Given the description of an element on the screen output the (x, y) to click on. 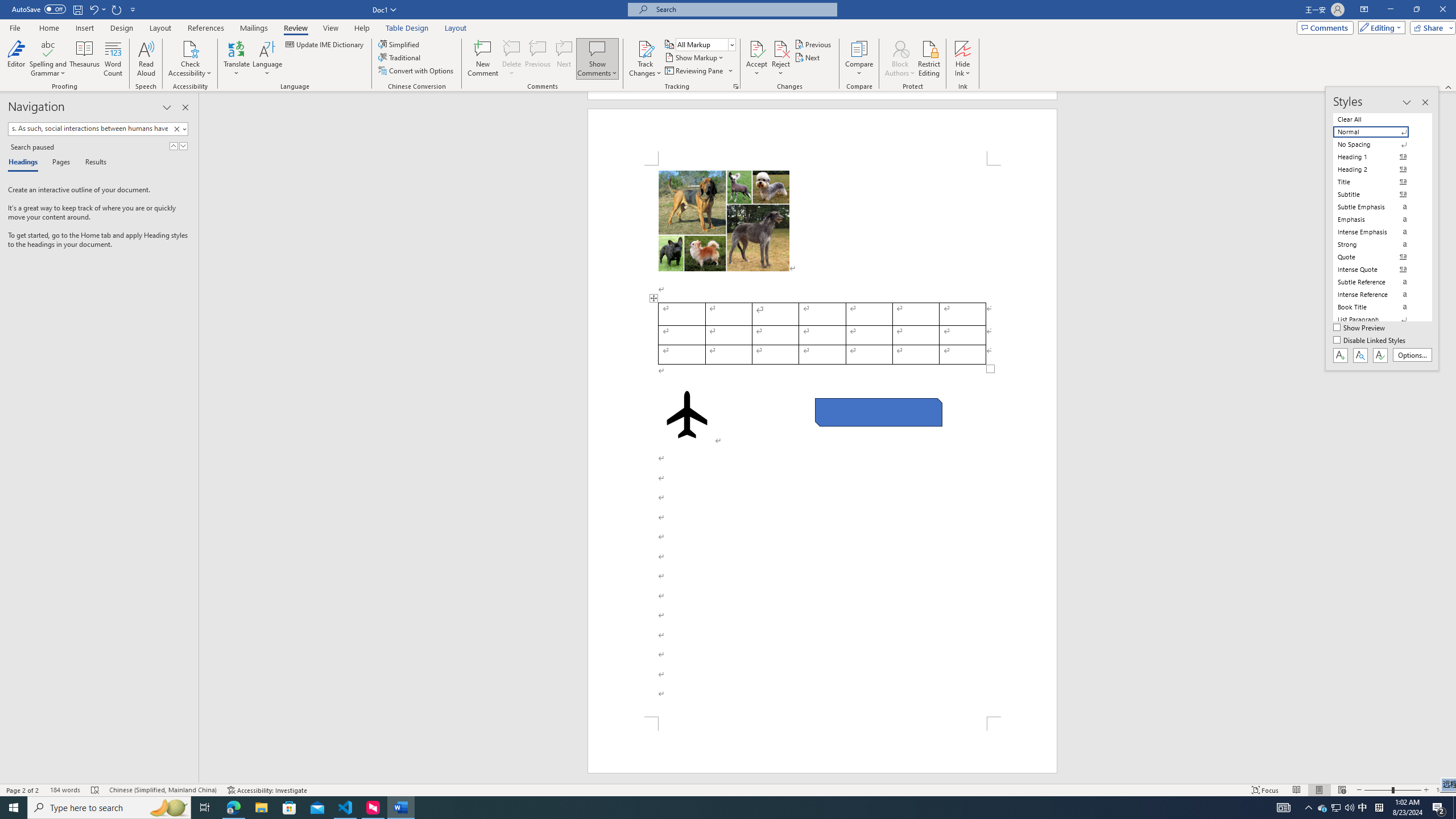
Page 2 content (822, 440)
Quote (1377, 256)
Track Changes (644, 48)
Microsoft search (742, 9)
Block Authors (900, 48)
Emphasis (1377, 219)
References (205, 28)
New Comment (482, 58)
Previous (813, 44)
Traditional (400, 56)
Repeat Style (117, 9)
Restrict Editing (929, 58)
